Given the description of an element on the screen output the (x, y) to click on. 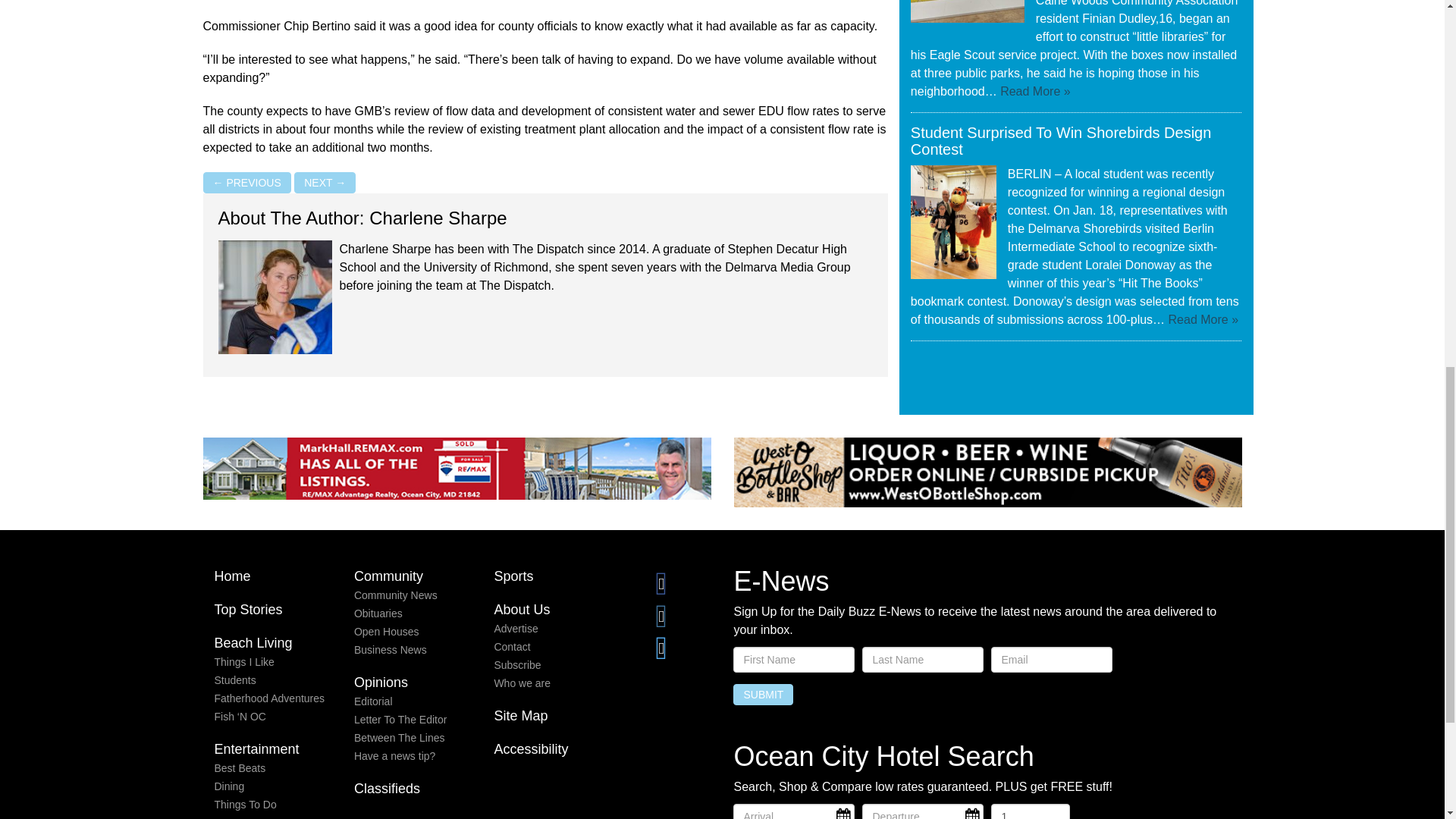
1 (1029, 811)
